Given the description of an element on the screen output the (x, y) to click on. 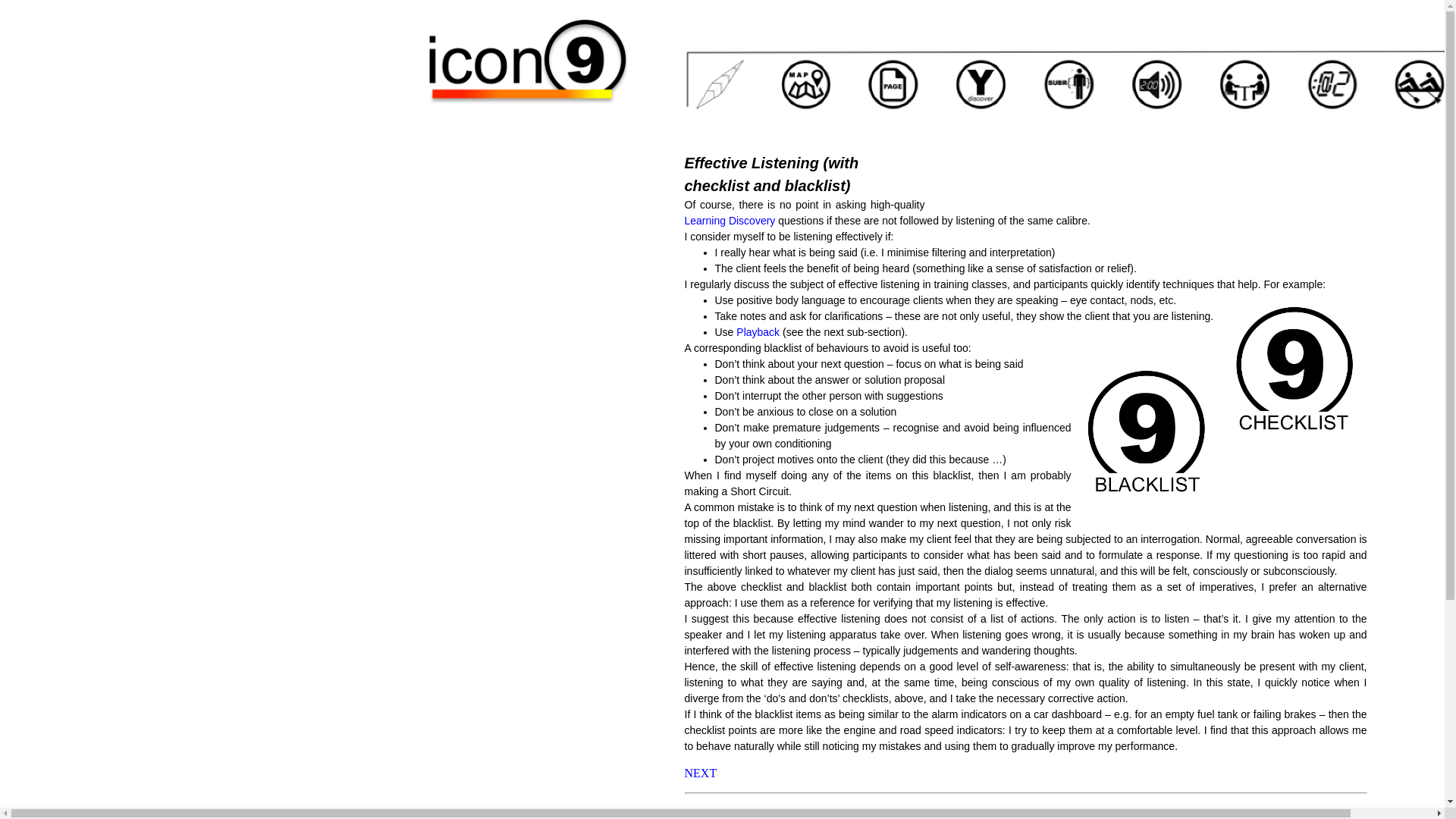
NEXT (700, 772)
Playback (757, 331)
Learning Discovery (729, 220)
